Given the description of an element on the screen output the (x, y) to click on. 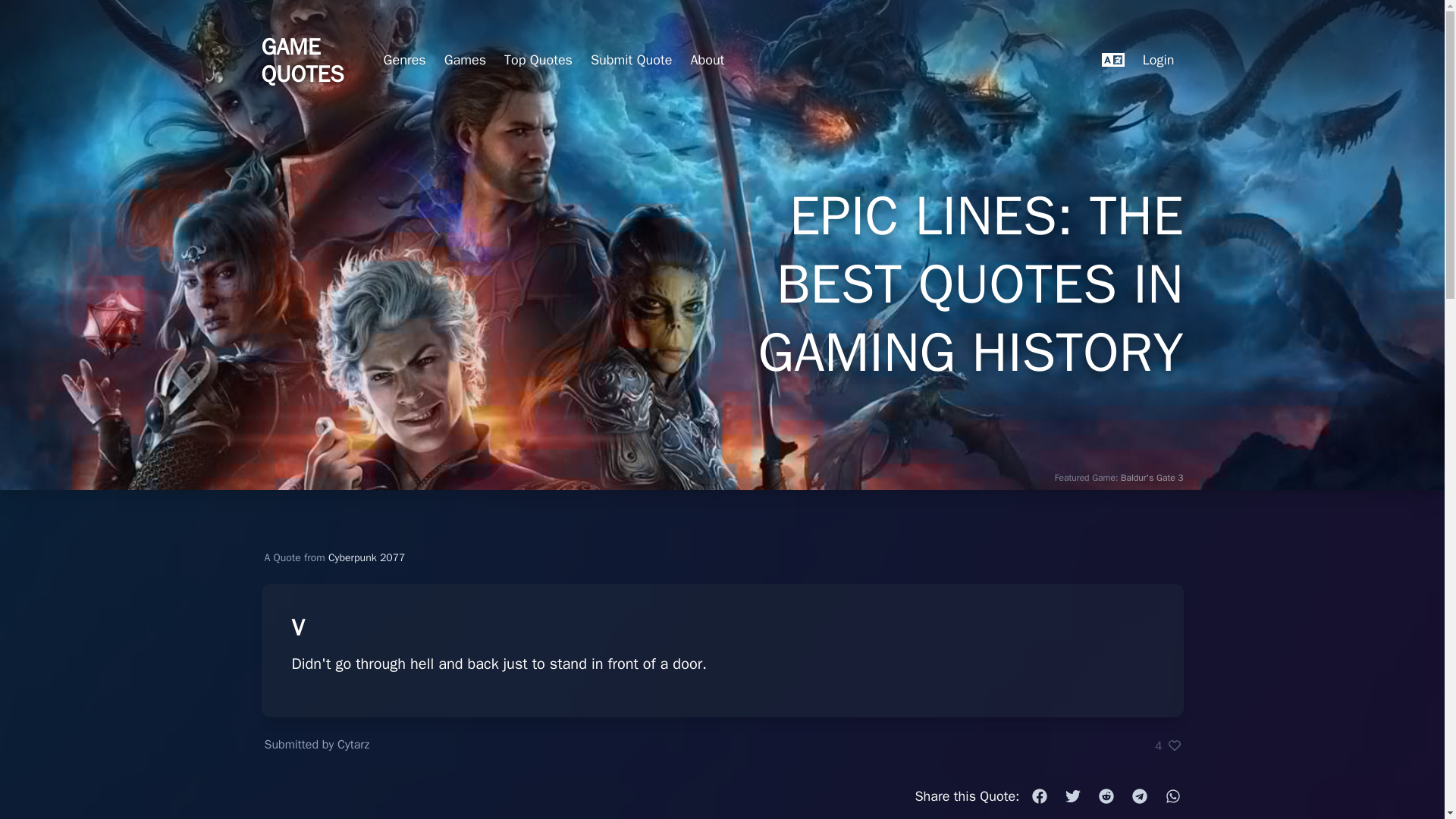
Baldur's Gate 3 (1151, 477)
Genres (405, 60)
Share Quote via Whatsapp (1171, 795)
Share Quote via Facebook (1038, 795)
Share Quote via Twitter (1072, 795)
Share Quote via Telegram (1139, 795)
Switch Language (1113, 60)
Share Quote via Telegram (1139, 795)
About (706, 60)
Share Quote via Whatsapp (1171, 795)
